Given the description of an element on the screen output the (x, y) to click on. 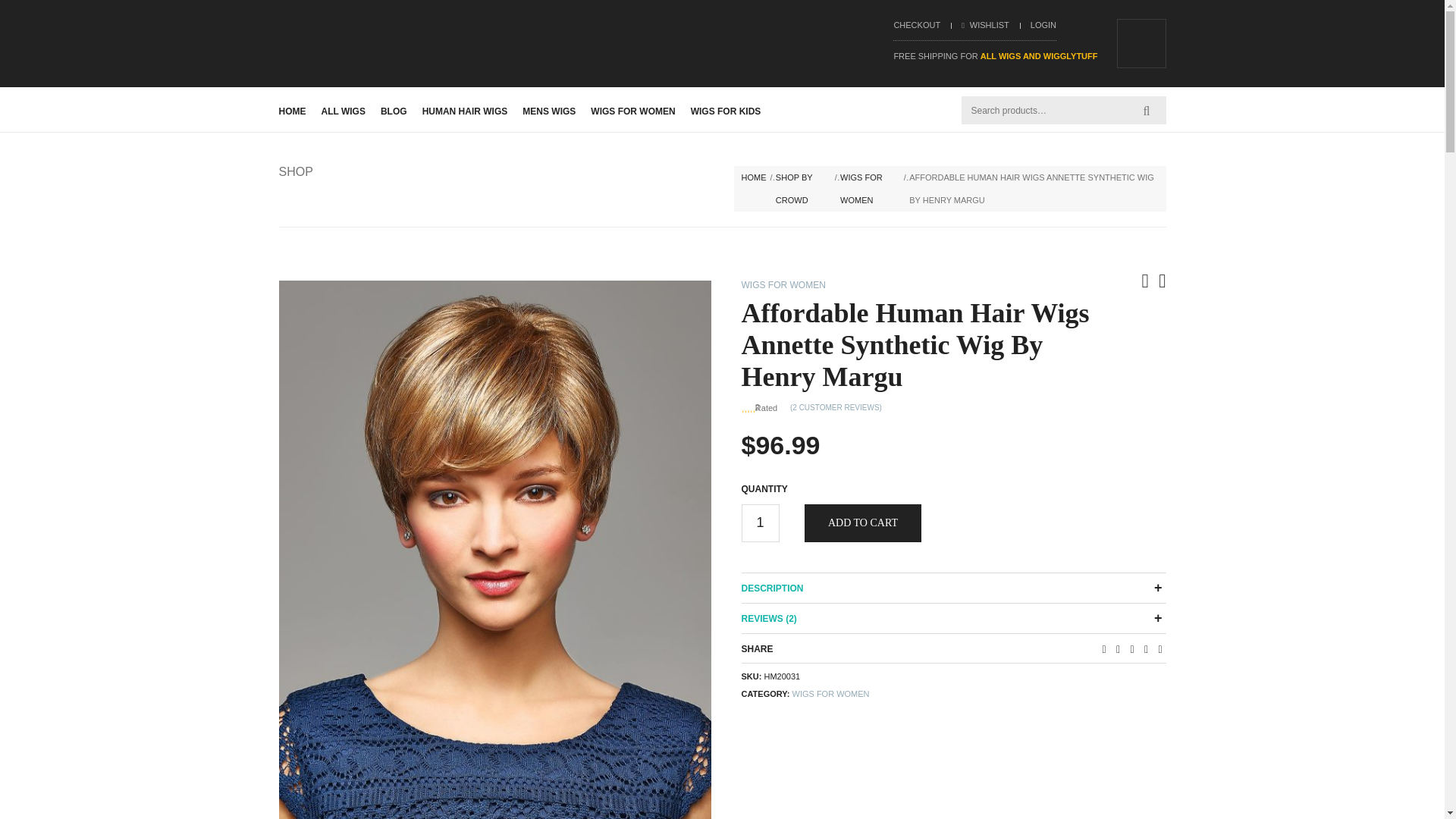
Wishlist (984, 24)
1 (759, 523)
Qty (759, 523)
